Given the description of an element on the screen output the (x, y) to click on. 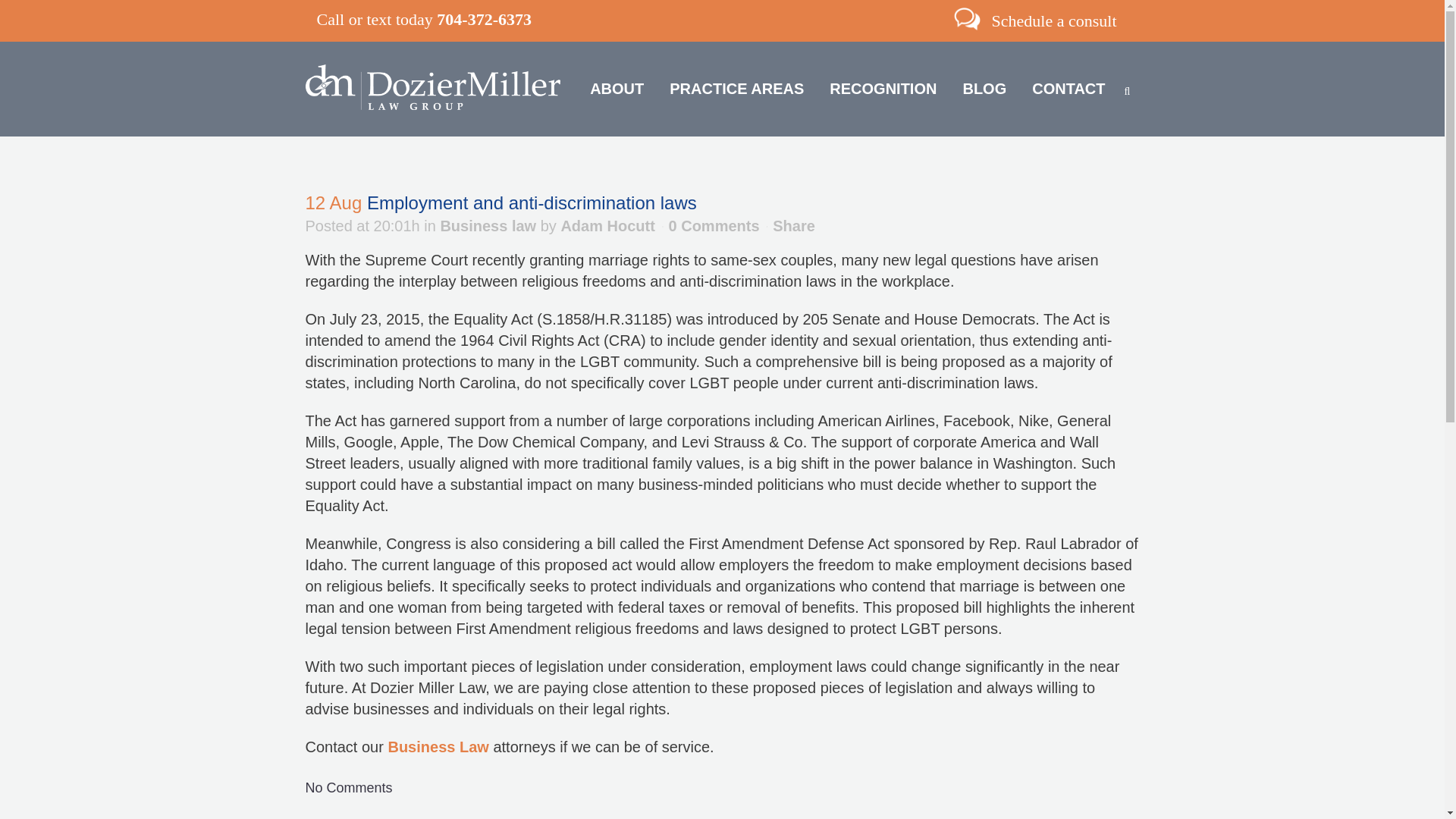
PRACTICE AREAS (736, 88)
